Given the description of an element on the screen output the (x, y) to click on. 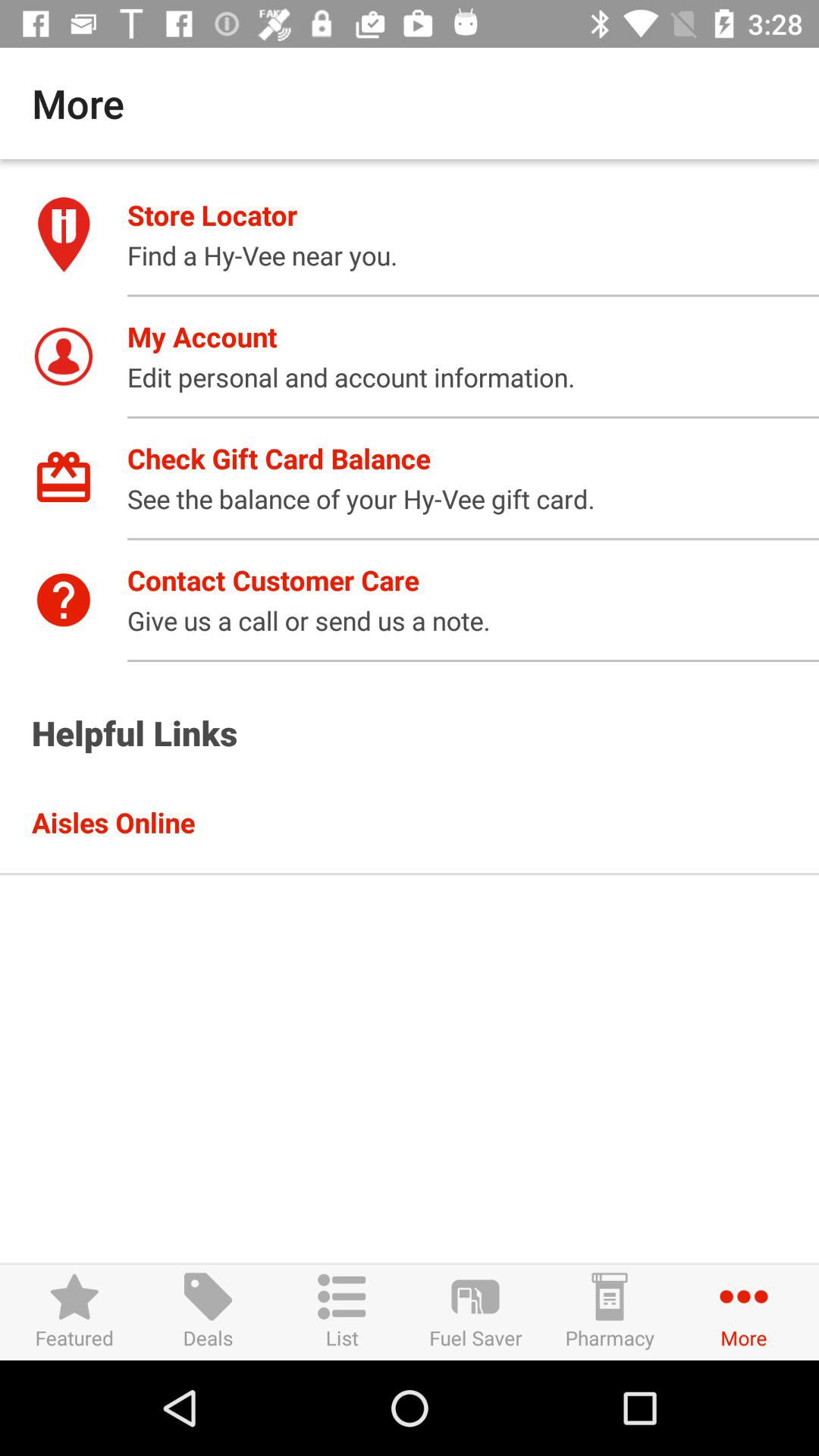
turn off item next to list item (475, 1311)
